Given the description of an element on the screen output the (x, y) to click on. 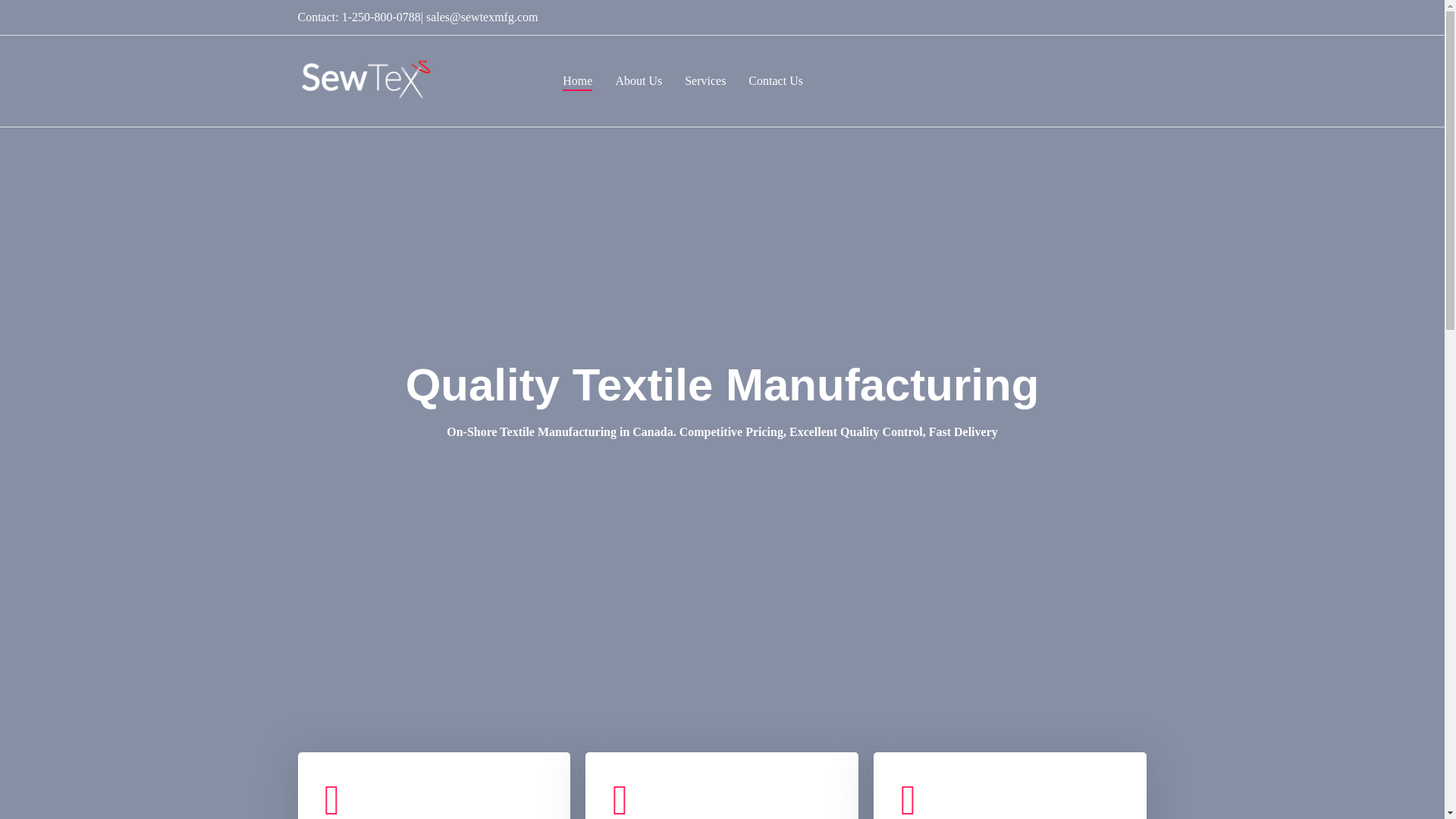
About Us (638, 80)
Services (704, 80)
Home (577, 80)
Contact Us (775, 80)
